Given the description of an element on the screen output the (x, y) to click on. 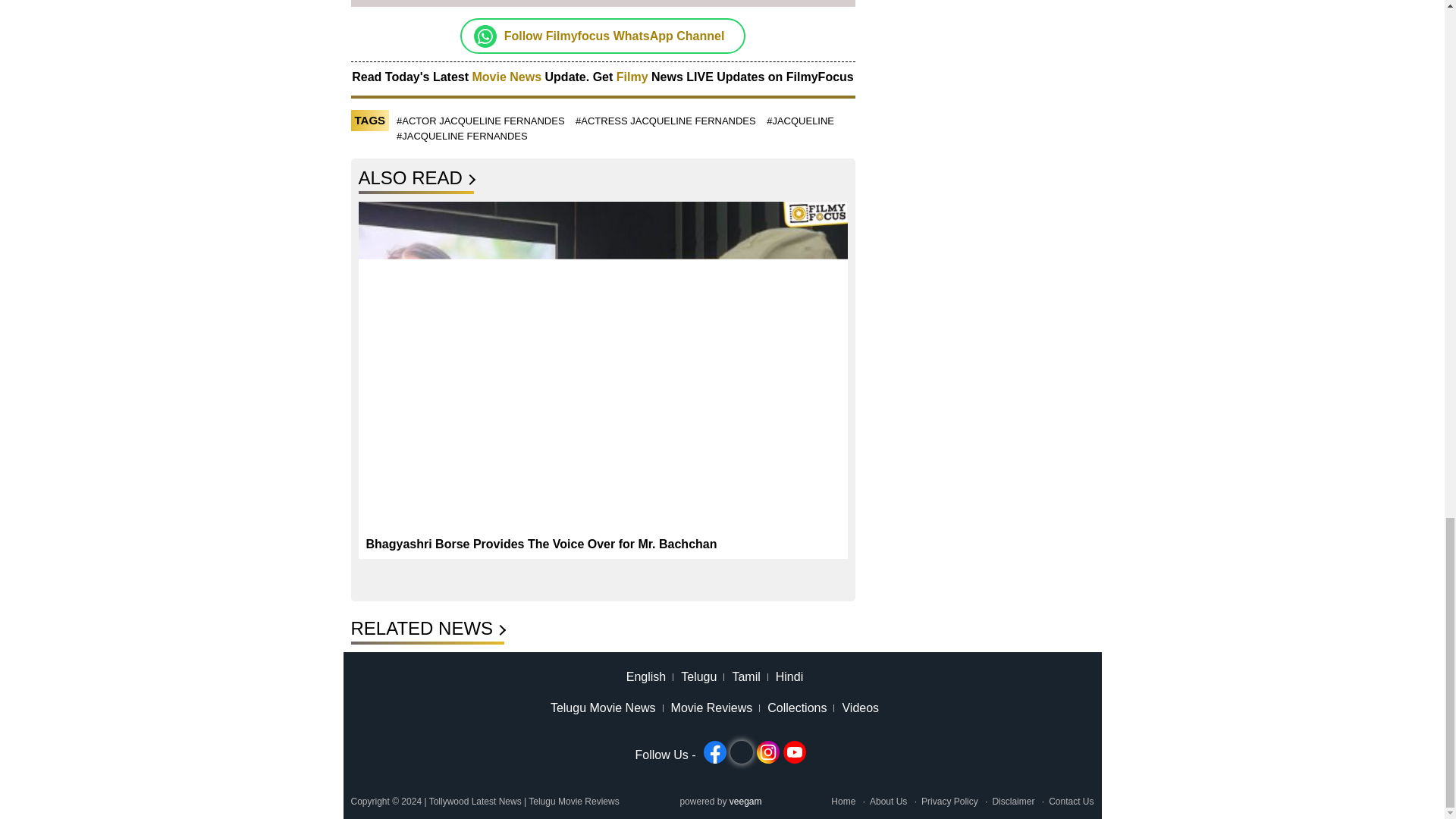
Movie News (506, 76)
Filmy (632, 76)
Bhagyashri Borse Provides The Voice Over for Mr. Bachchan (540, 543)
Follow Filmyfocus WhatsApp Channel (614, 35)
